Given the description of an element on the screen output the (x, y) to click on. 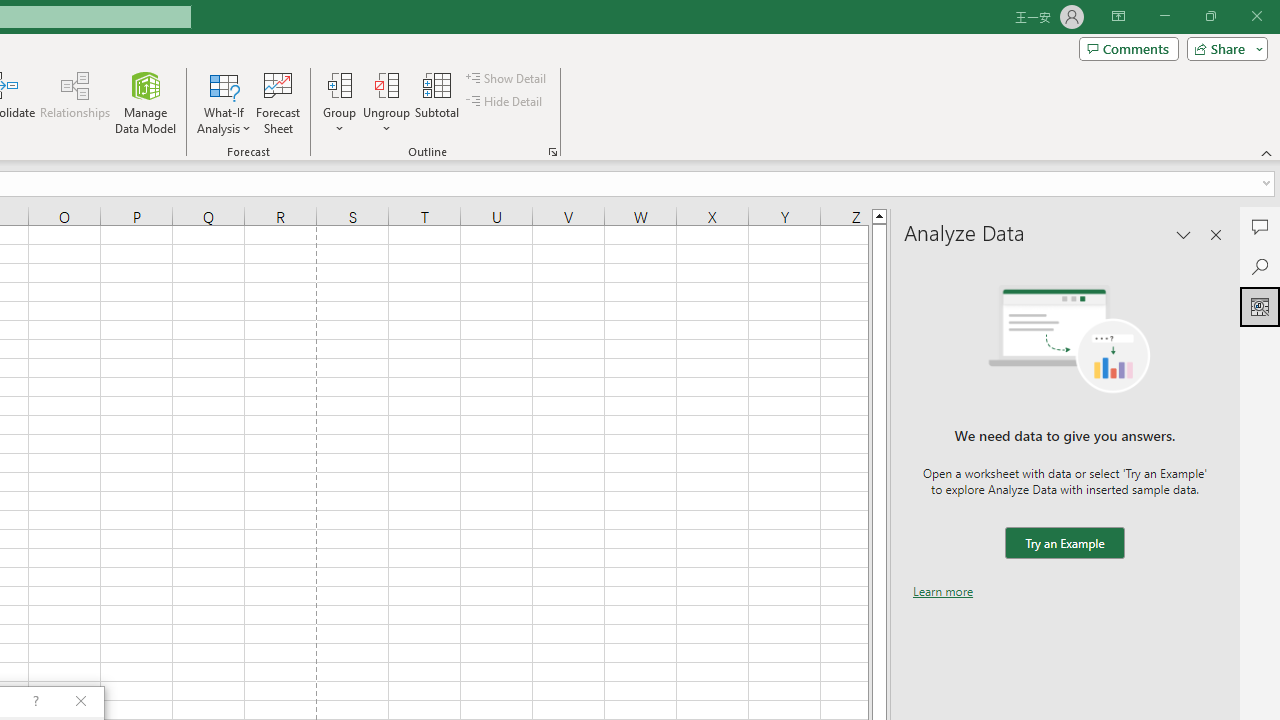
Hide Detail (505, 101)
Show Detail (507, 78)
What-If Analysis (223, 102)
We need data to give you answers. Try an Example (1064, 543)
Group and Outline Settings (552, 151)
